Given the description of an element on the screen output the (x, y) to click on. 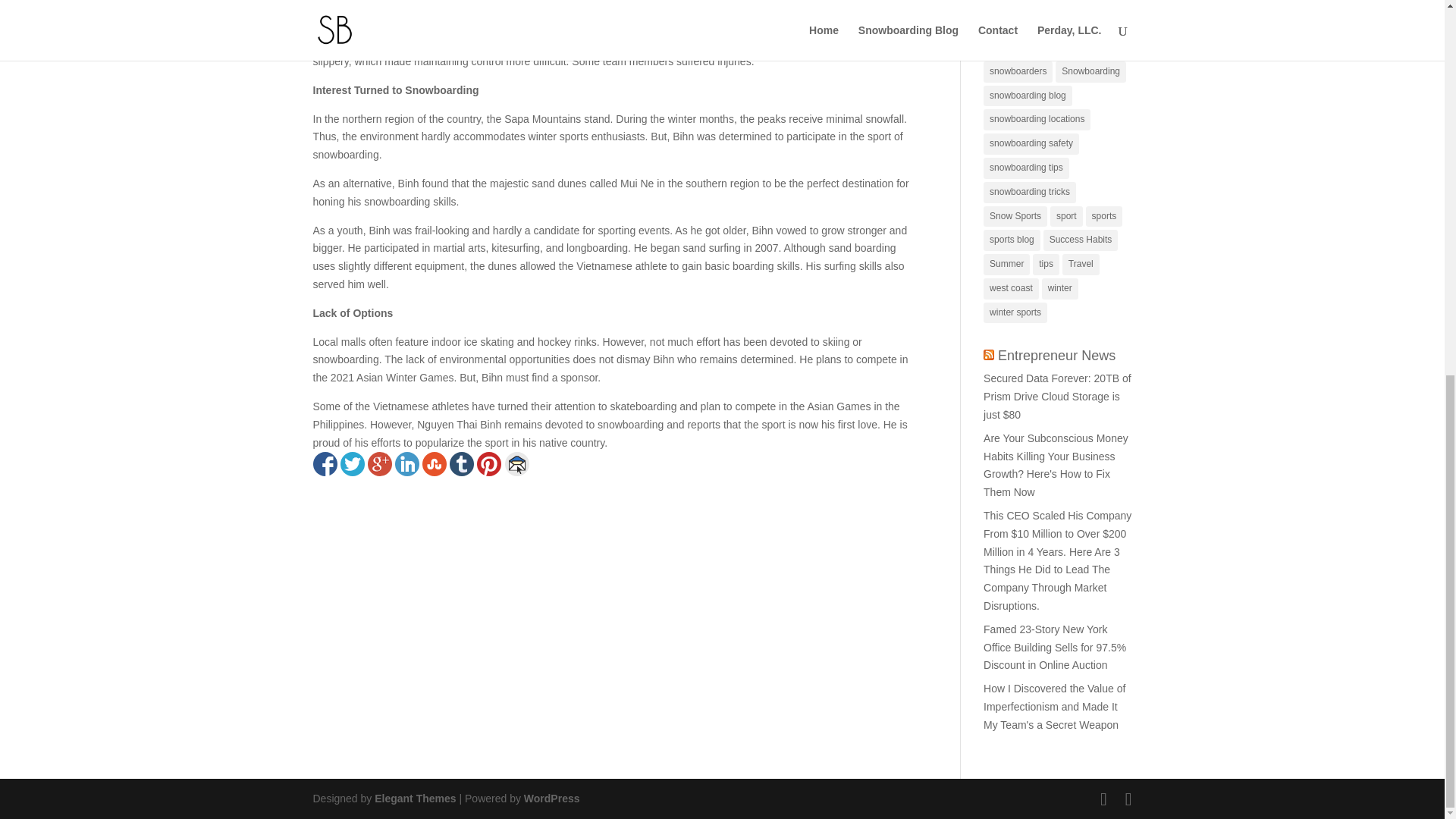
Share to Facebook (324, 463)
Email this article (517, 463)
Share to Google Plus (378, 463)
Share to Pinterest (488, 463)
Premium WordPress Themes (414, 798)
Share to Twitter (351, 463)
Share to StumbleUpon (433, 463)
Share to LinkedIn (406, 463)
Share to Tumblr (460, 463)
